Given the description of an element on the screen output the (x, y) to click on. 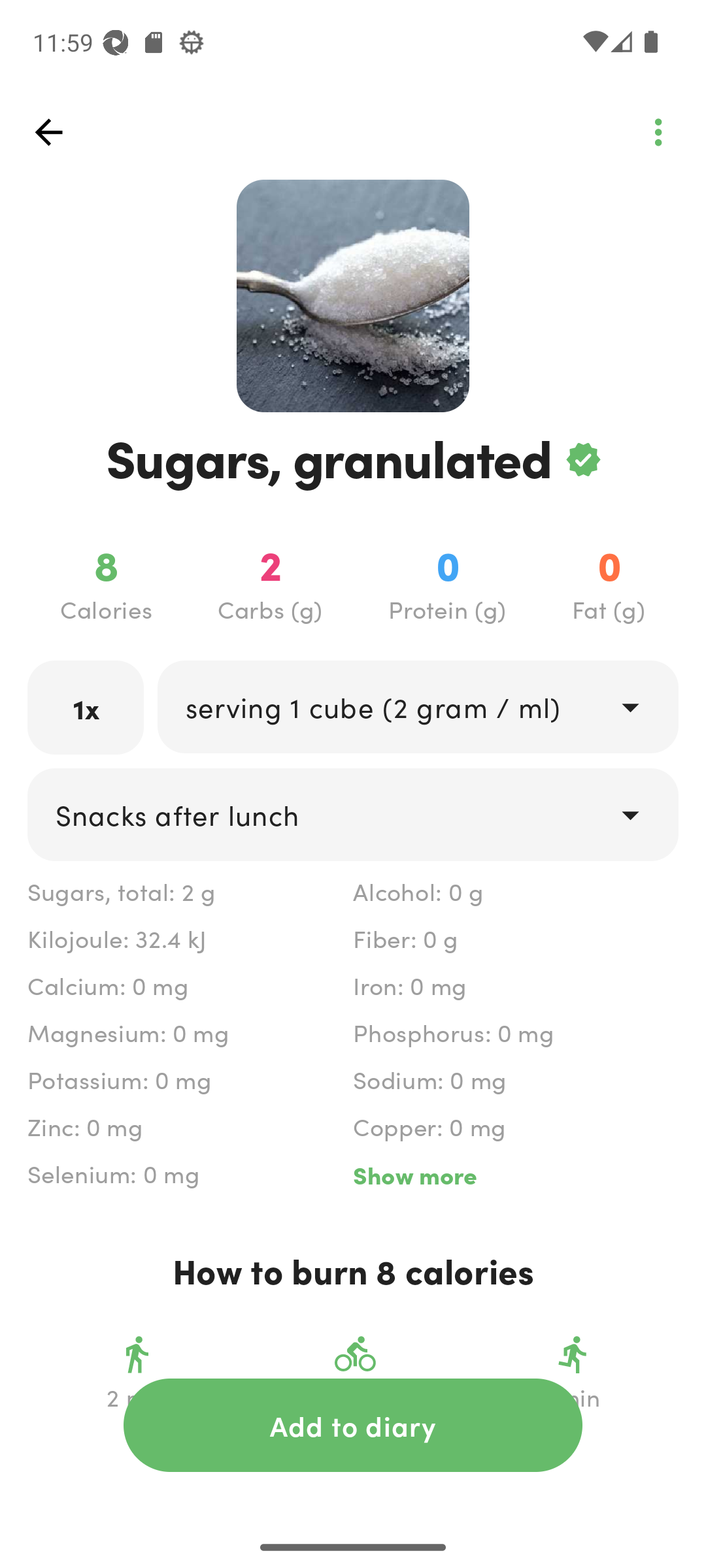
top_left_action (48, 132)
top_left_action (658, 132)
1x labeled_edit_text (85, 707)
drop_down serving 1 cube (2 gram / ml) (417, 706)
drop_down Snacks after lunch (352, 814)
Show more (515, 1174)
action_button Add to diary (352, 1425)
